Given the description of an element on the screen output the (x, y) to click on. 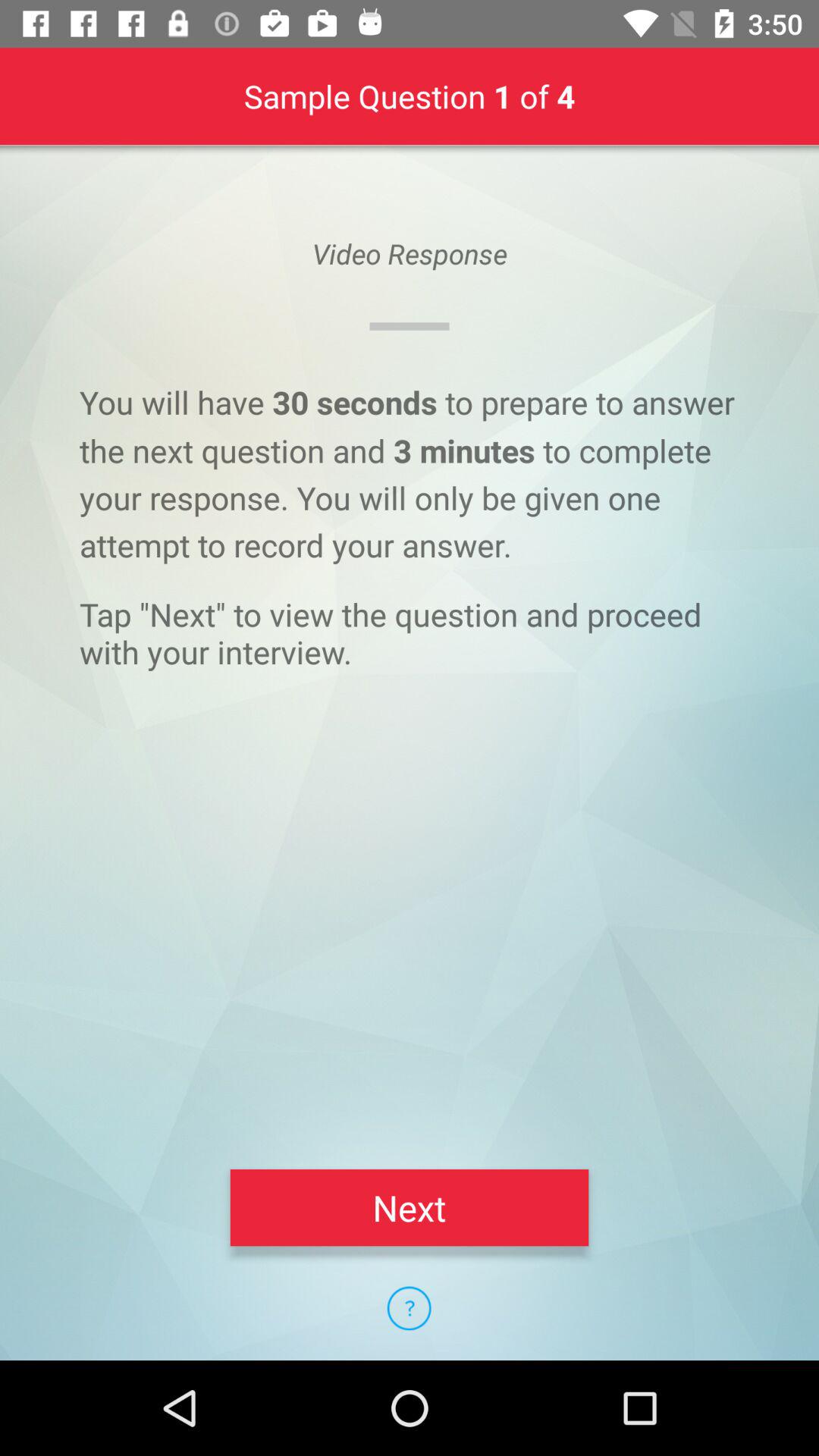
turn on the icon below the next item (409, 1308)
